Given the description of an element on the screen output the (x, y) to click on. 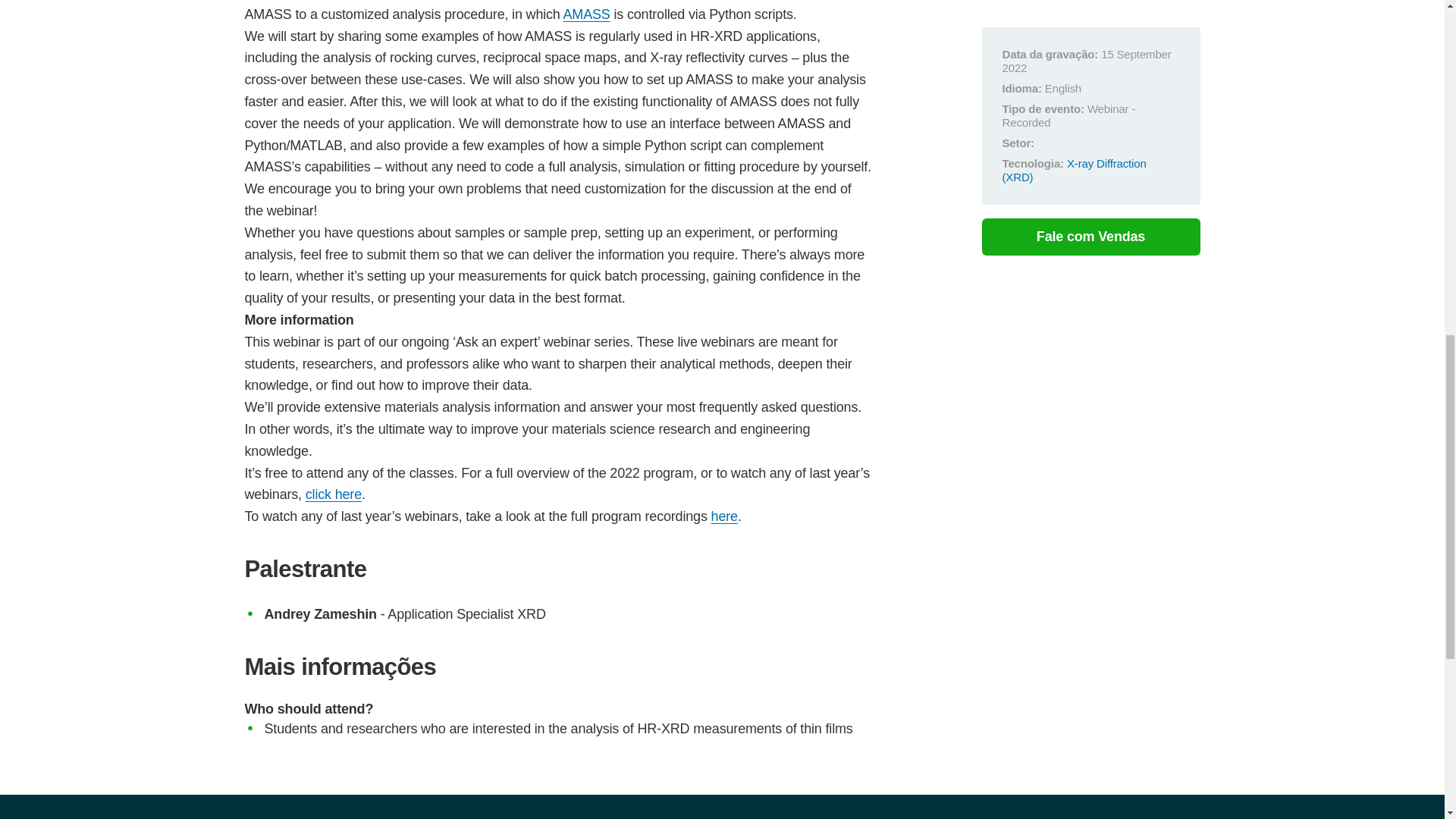
Ask an expert  (333, 494)
AMASS (586, 14)
here (724, 516)
AMASS (586, 14)
Ask an expert  (724, 516)
click here (333, 494)
